Given the description of an element on the screen output the (x, y) to click on. 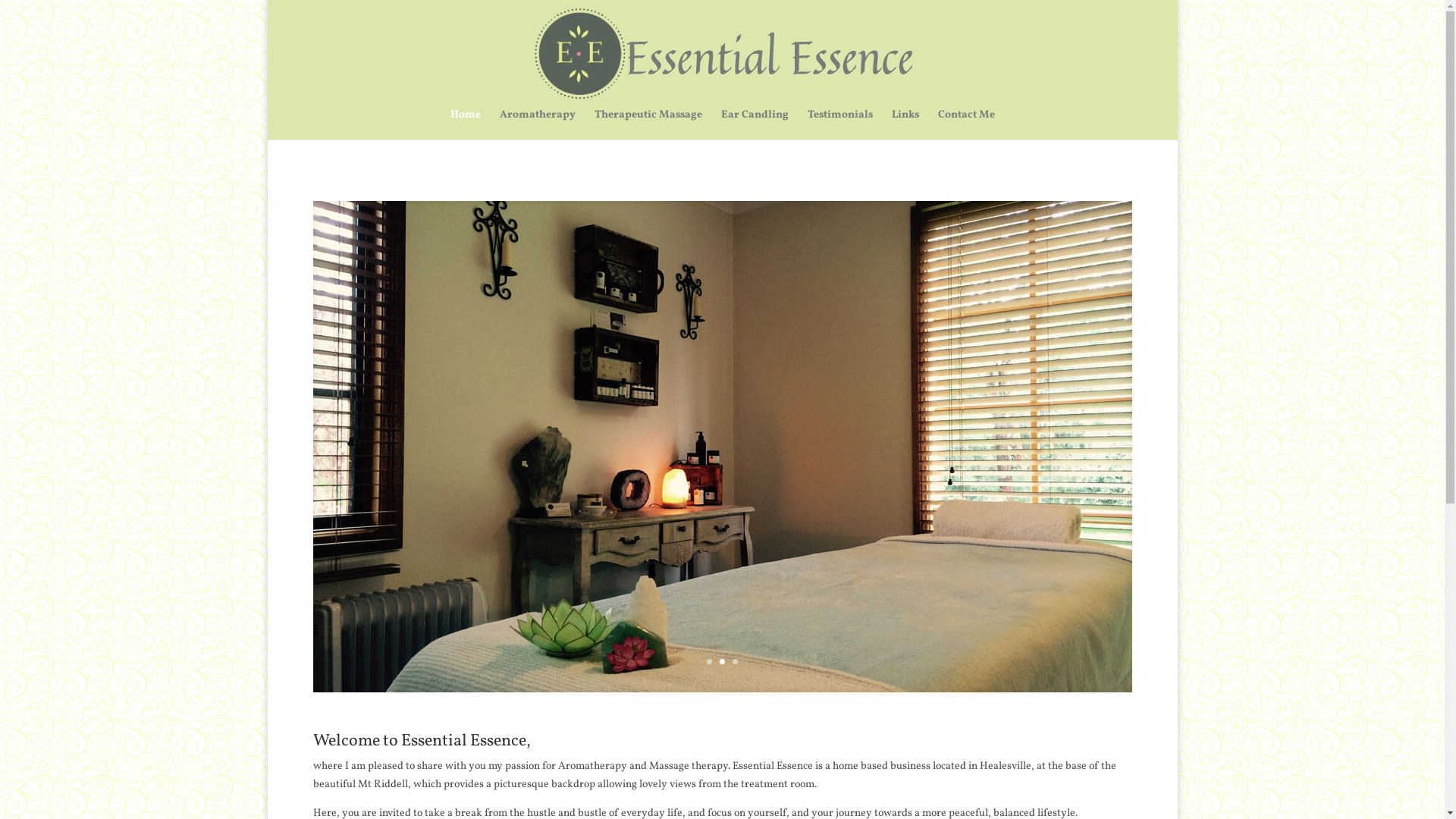
1 Element type: text (709, 661)
Therapeutic Massage Element type: text (648, 124)
Contact Me Element type: text (965, 124)
Testimonials Element type: text (839, 124)
Home Element type: text (465, 124)
3 Element type: text (734, 661)
2 Element type: text (721, 661)
Ear Candling Element type: text (753, 124)
Links Element type: text (905, 124)
Aromatherapy Element type: text (536, 124)
